Given the description of an element on the screen output the (x, y) to click on. 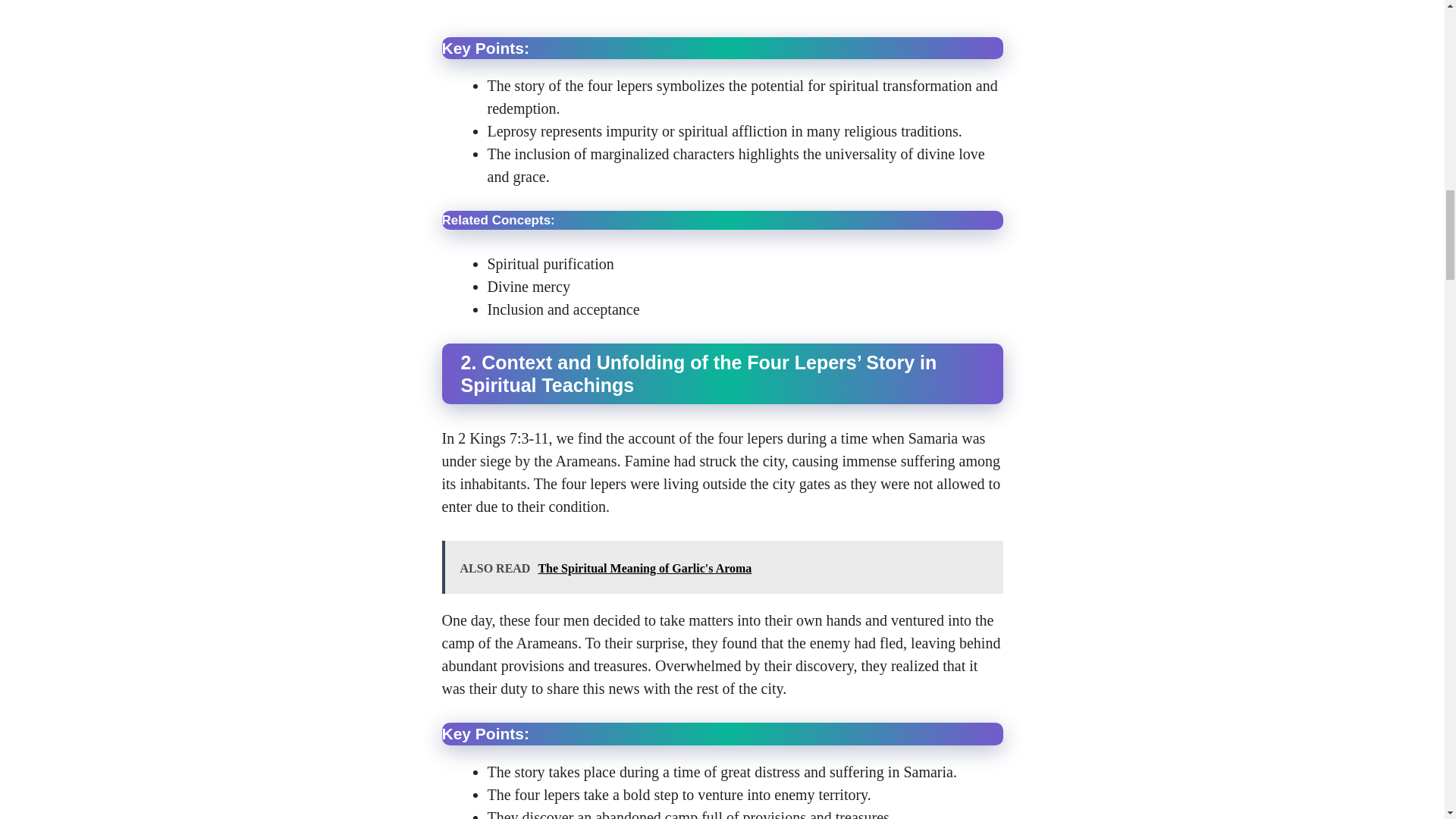
ALSO READ  The Spiritual Meaning of Garlic's Aroma (722, 566)
